Given the description of an element on the screen output the (x, y) to click on. 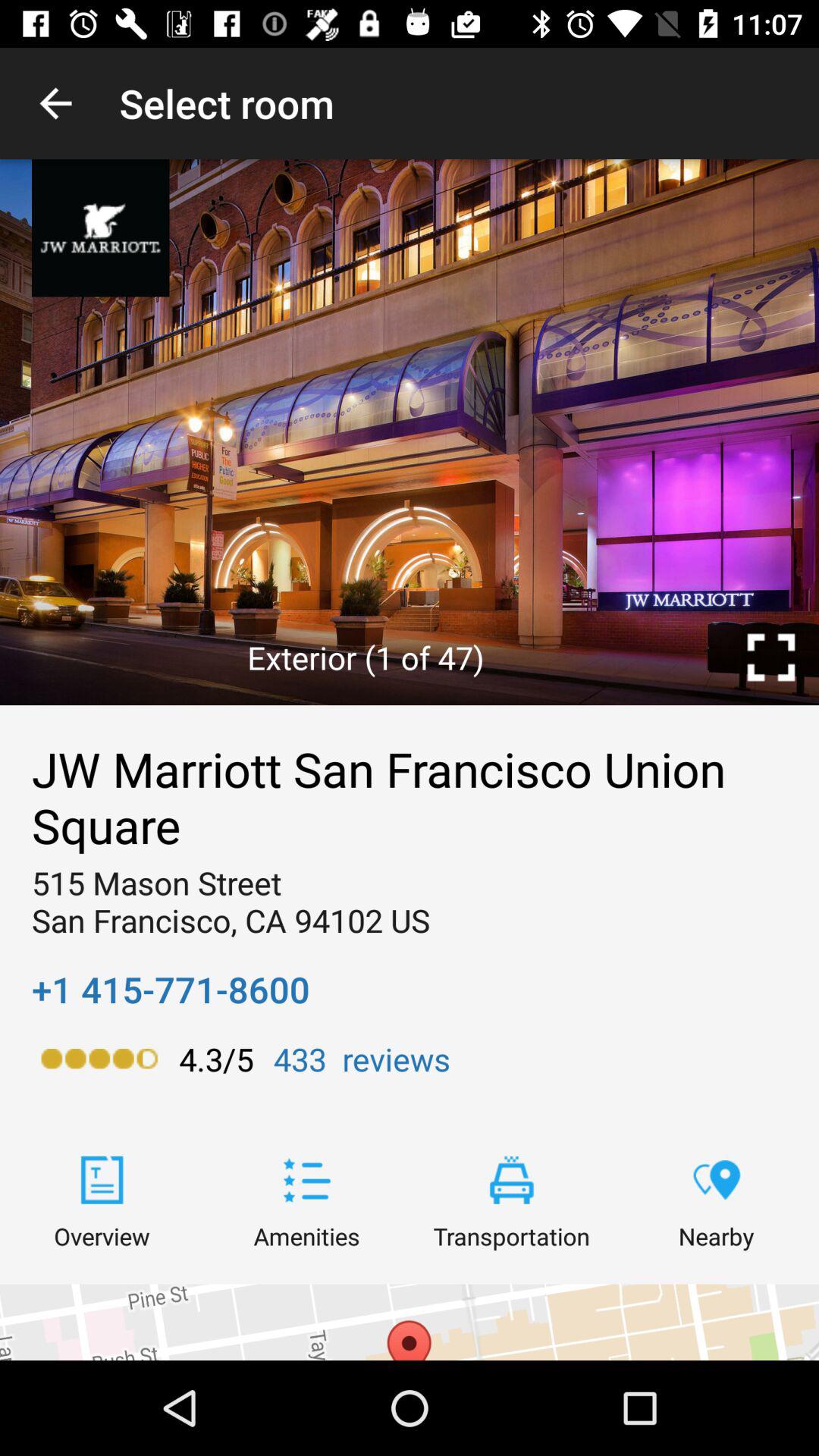
click icon to the left of select room item (55, 103)
